Given the description of an element on the screen output the (x, y) to click on. 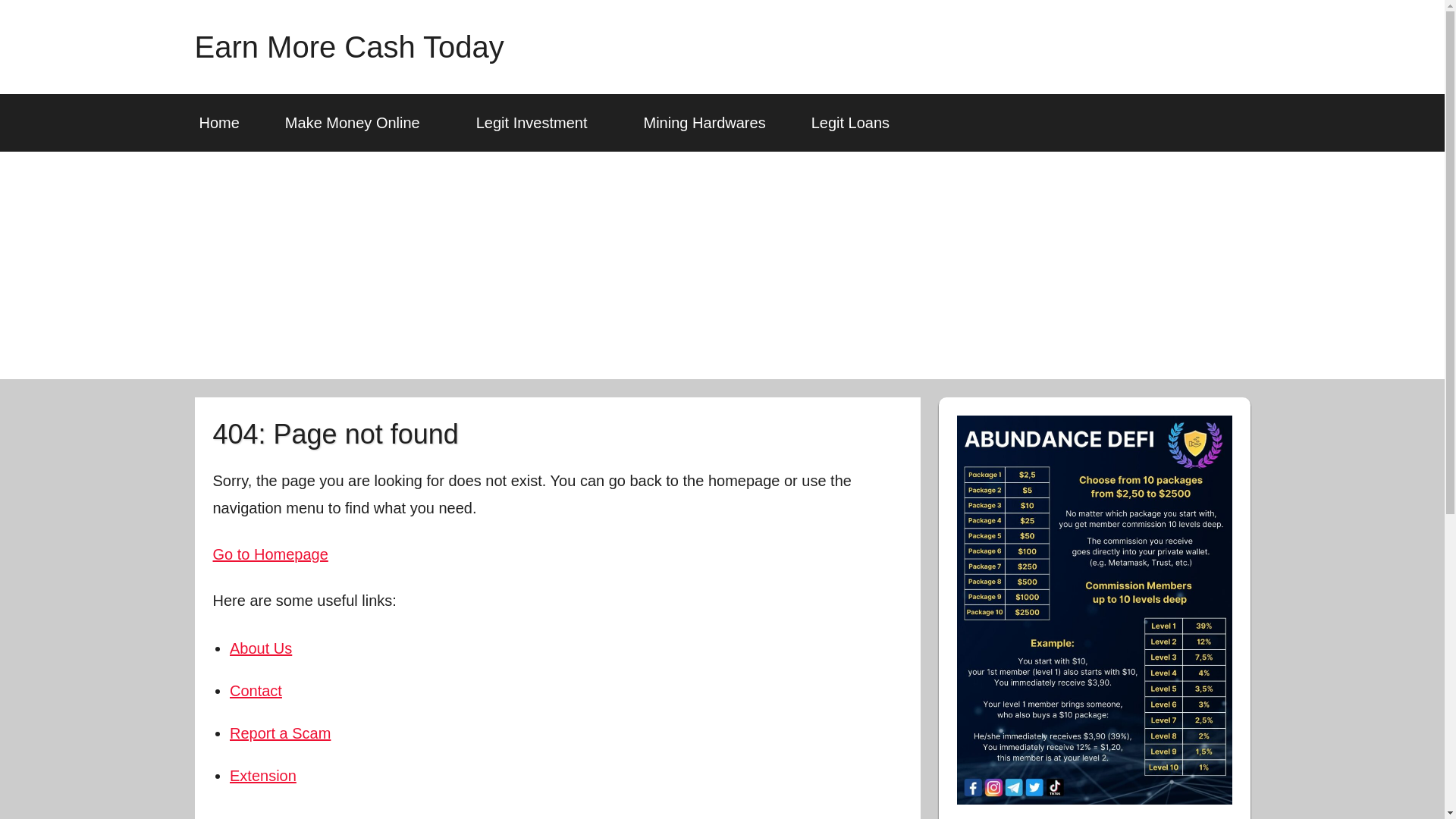
Mining Hardwares (703, 122)
Extension (263, 775)
Make Money Online (357, 122)
Contact (256, 690)
Earn More Cash Today (348, 46)
About Us (261, 647)
Report a Scam (280, 733)
Legit Loans (856, 122)
Go to Homepage (269, 554)
Legit Investment (536, 122)
Home (219, 122)
